Given the description of an element on the screen output the (x, y) to click on. 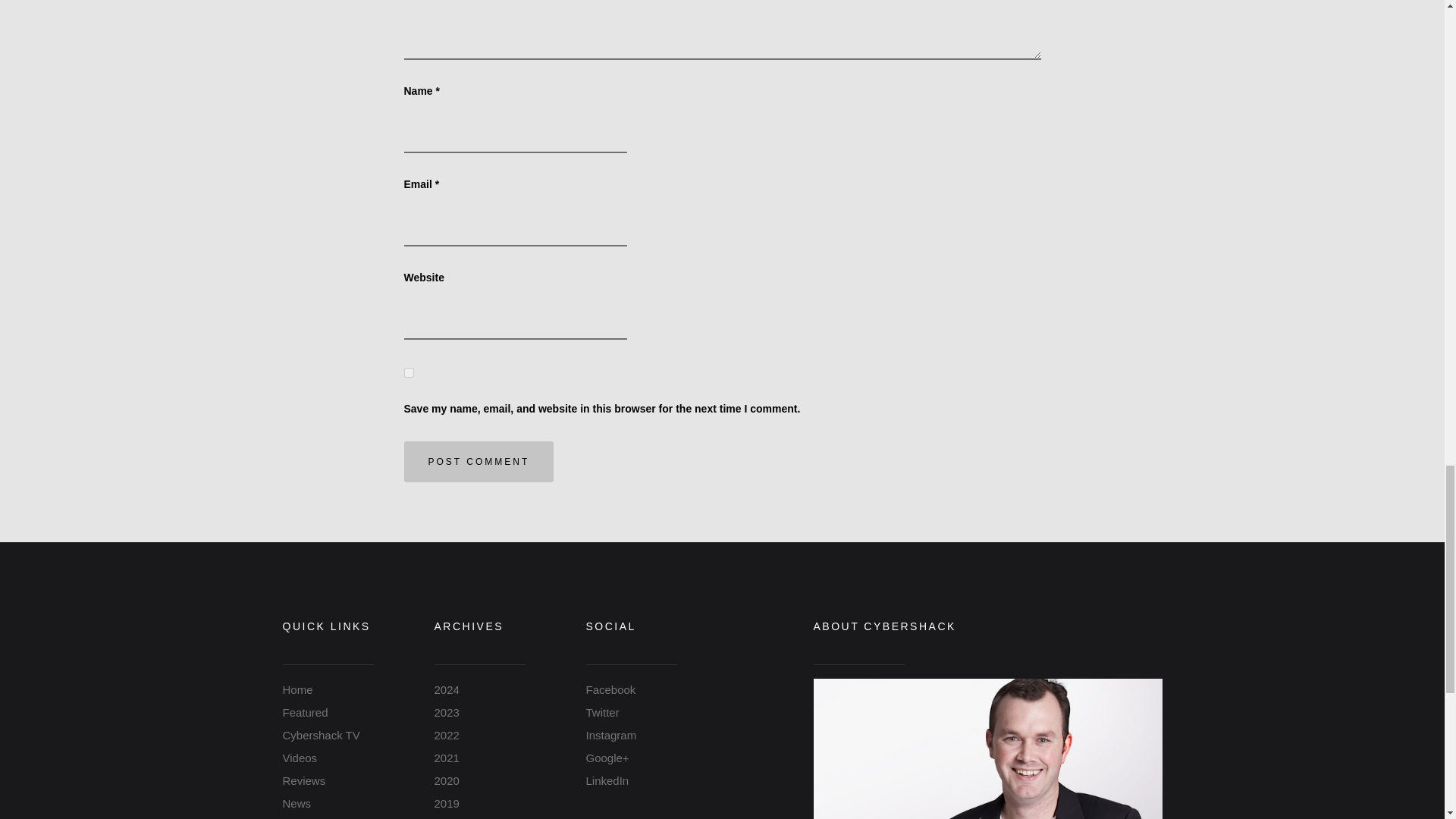
yes (408, 372)
Post Comment (478, 461)
Cybershack TV (320, 735)
Post Comment (478, 461)
News (296, 802)
Videos (299, 757)
Featured (304, 712)
2024 (445, 689)
2023 (445, 712)
Reviews (303, 780)
Home (297, 689)
